Given the description of an element on the screen output the (x, y) to click on. 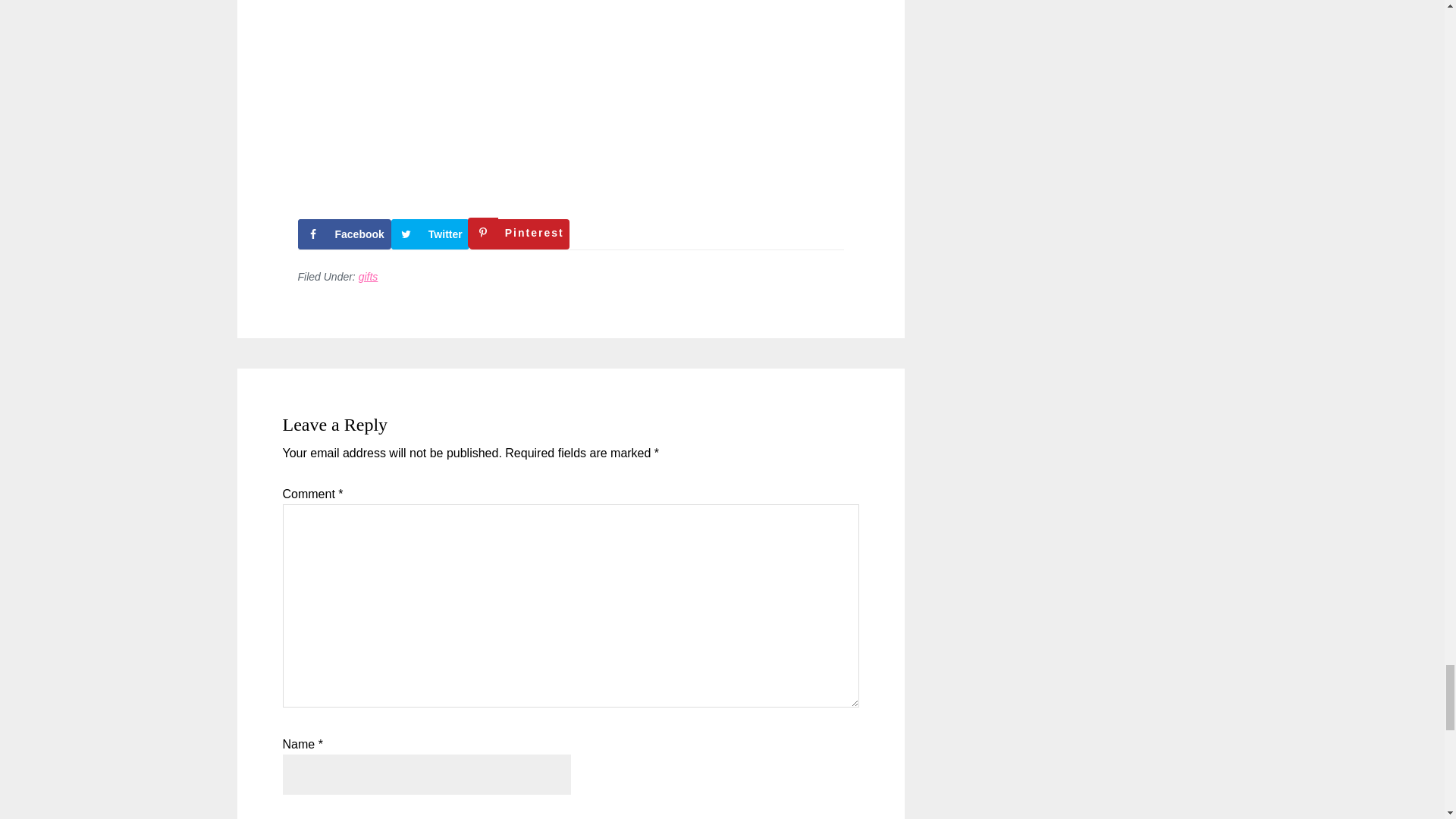
Share on Facebook (343, 234)
Share on Twitter (429, 234)
Save to Pinterest (518, 234)
